Given the description of an element on the screen output the (x, y) to click on. 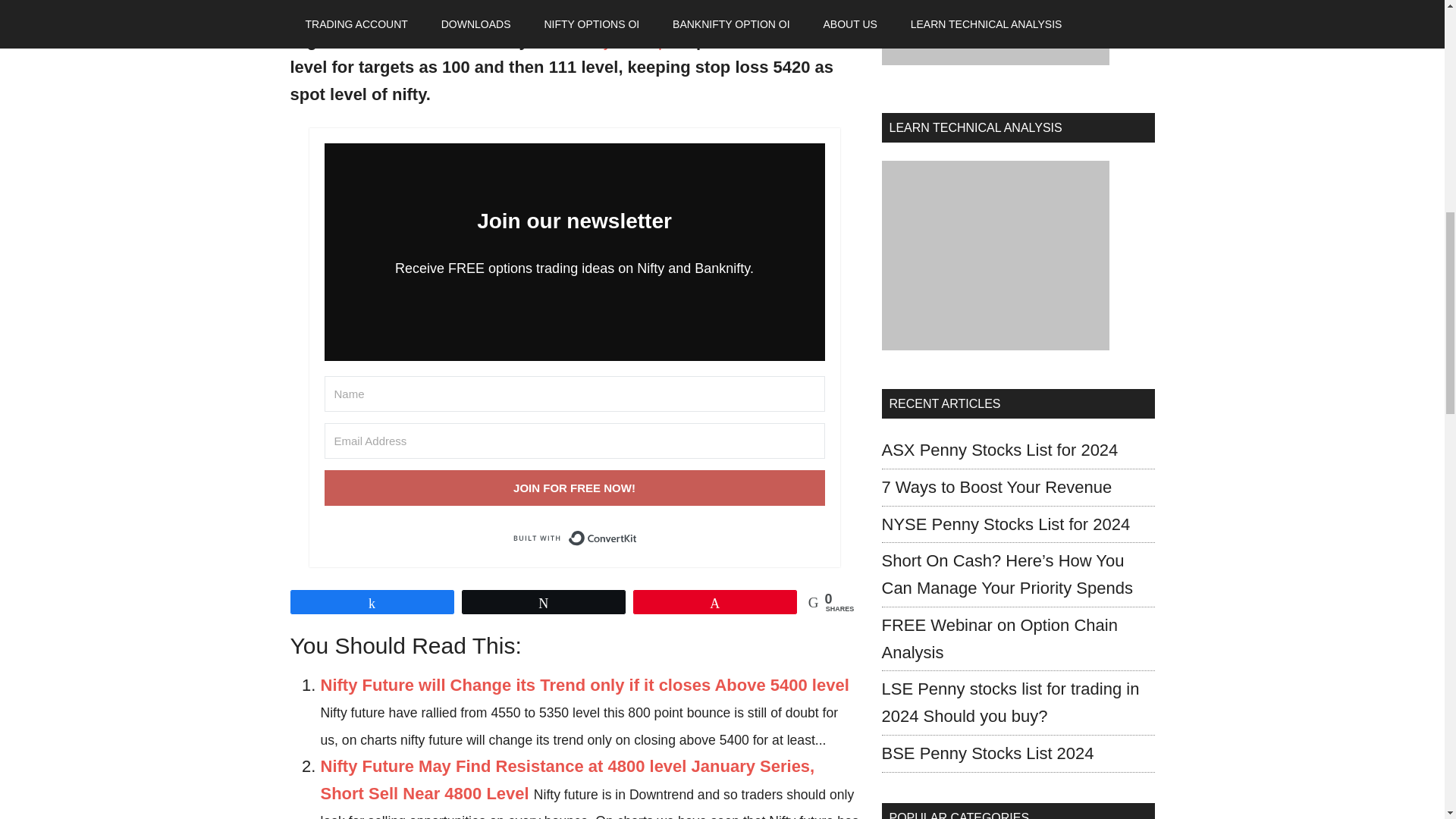
Built with ConvertKit (574, 538)
JOIN FOR FREE NOW! (574, 488)
nifty 5300 put (630, 39)
